Given the description of an element on the screen output the (x, y) to click on. 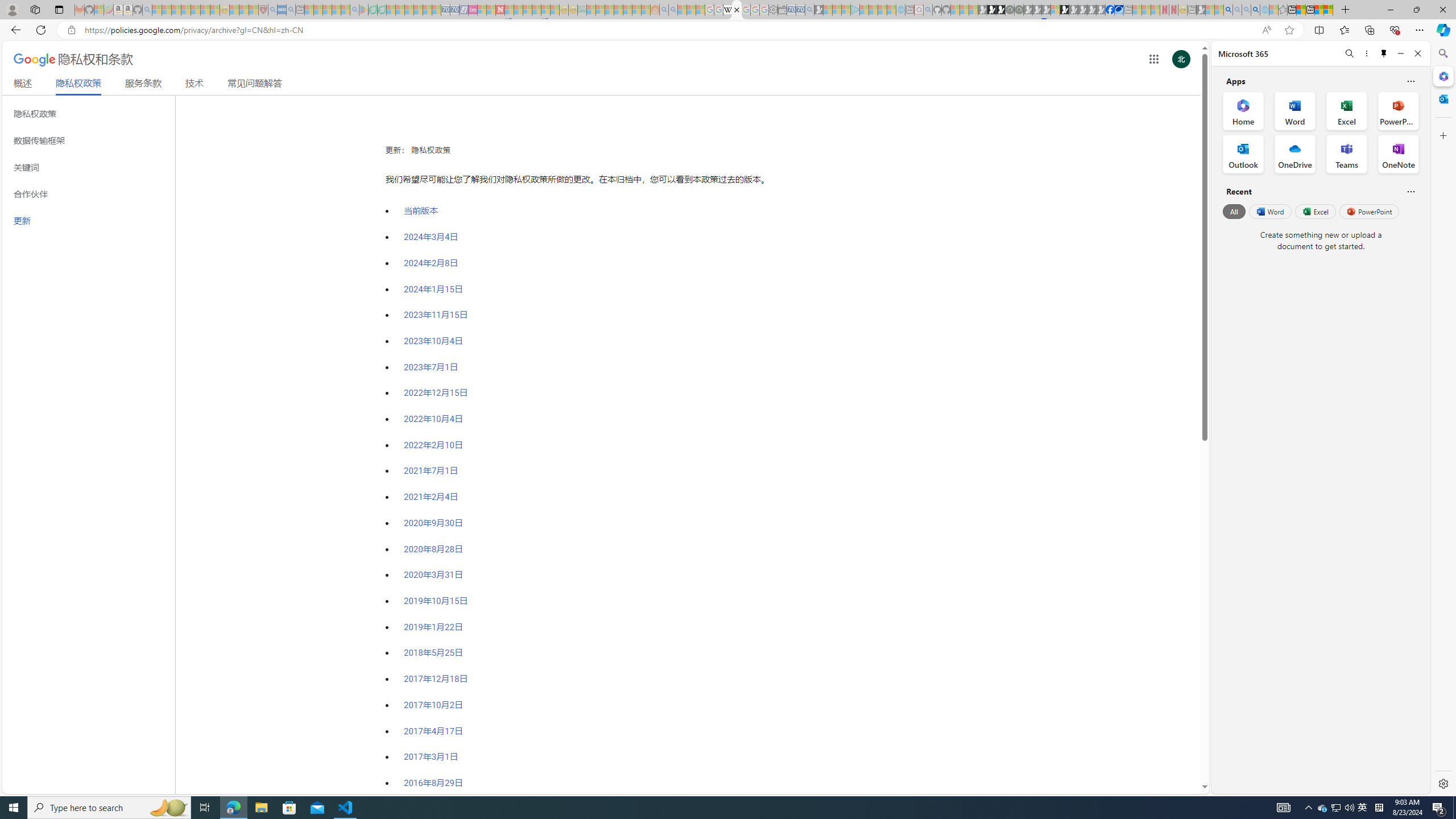
NCL Adult Asthma Inhaler Choice Guideline - Sleeping (281, 9)
Pets - MSN - Sleeping (336, 9)
Nordace | Facebook (1109, 9)
Home Office App (1243, 110)
OneDrive Office App (1295, 154)
